Given the description of an element on the screen output the (x, y) to click on. 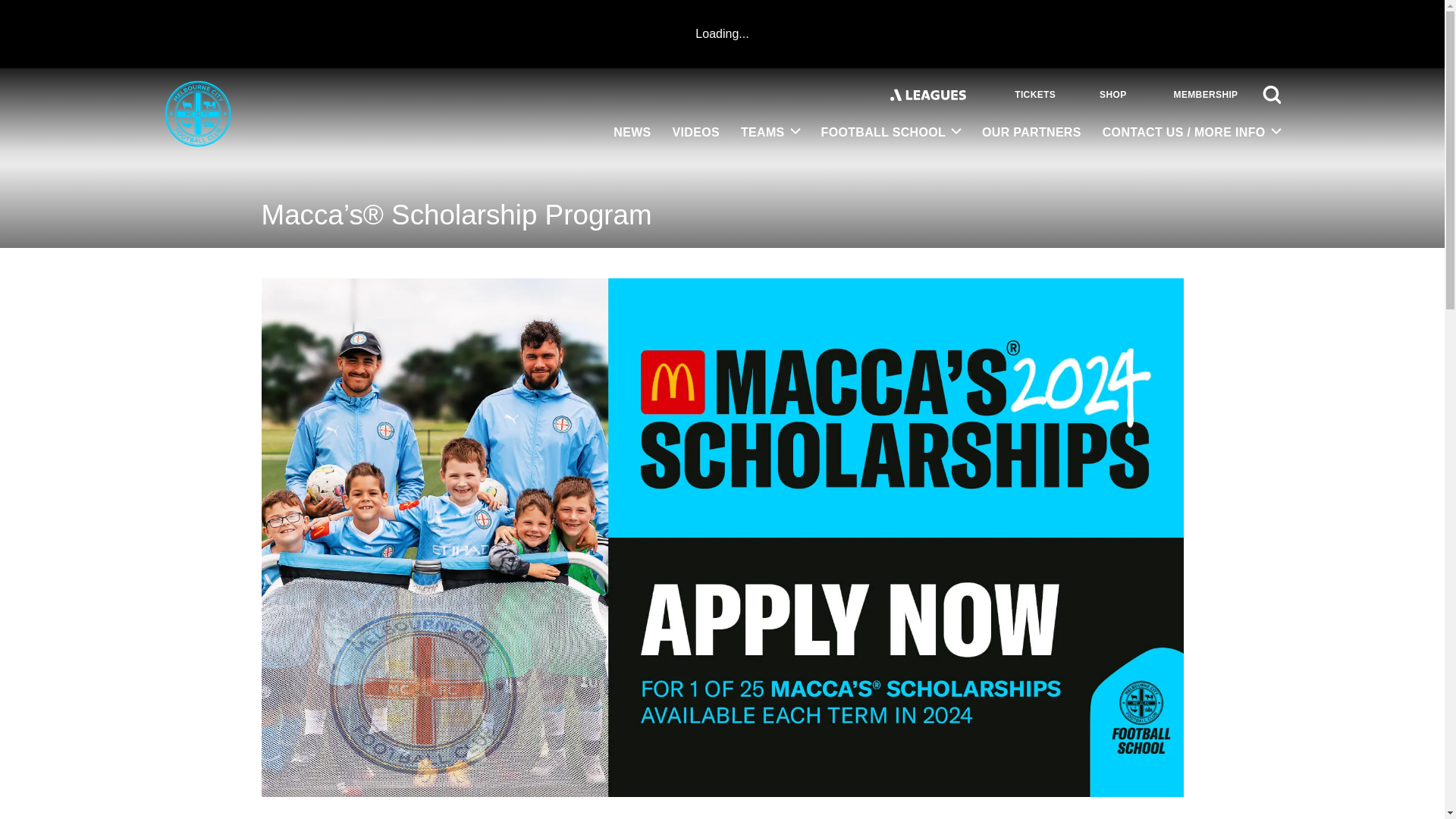
VIDEOS (696, 133)
FOOTBALL SCHOOL (891, 132)
TEAMS (770, 132)
NEWS (631, 133)
OUR PARTNERS (1031, 133)
